Given the description of an element on the screen output the (x, y) to click on. 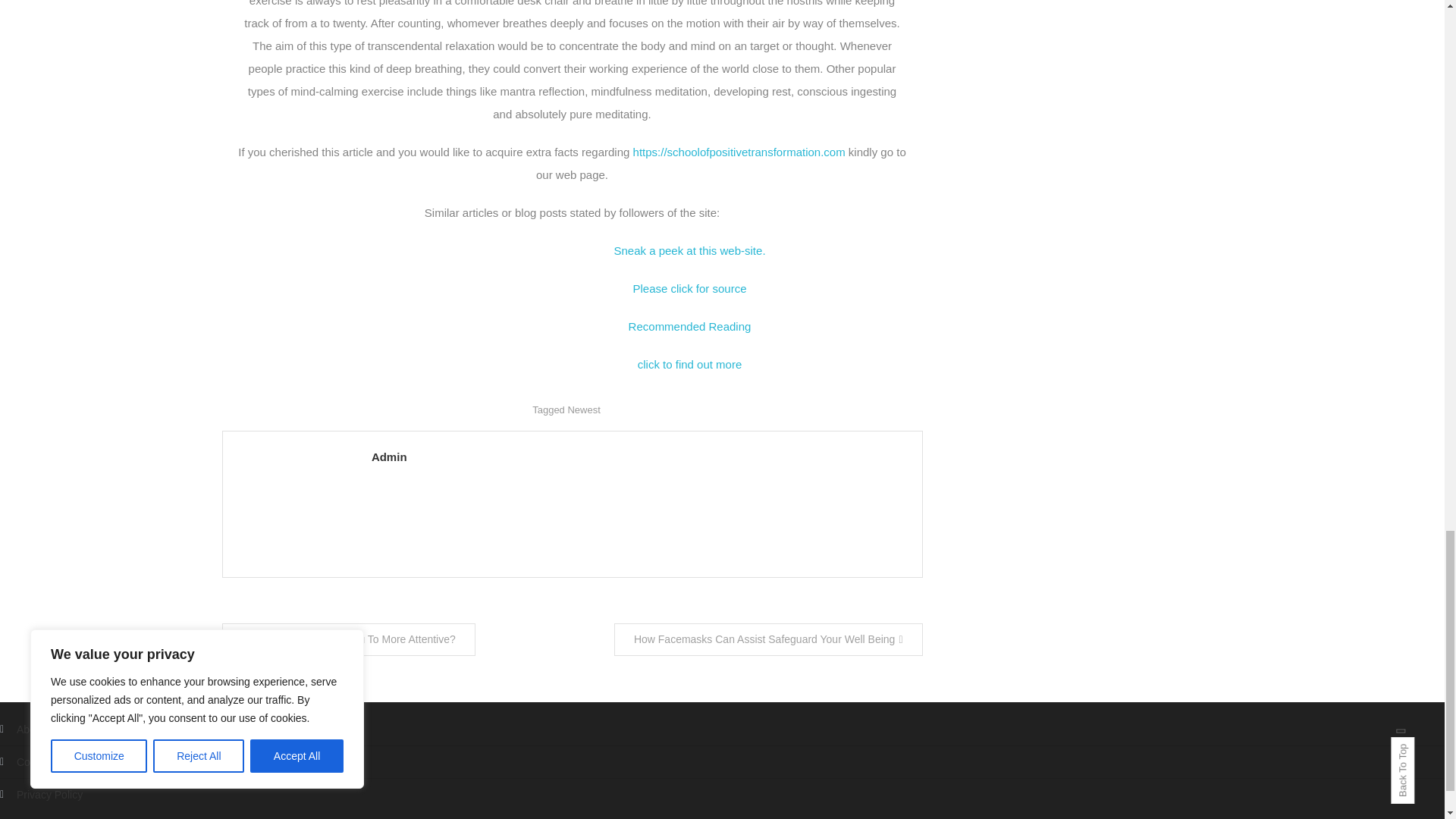
Recommended Reading (689, 326)
click to find out more (689, 364)
Newest (583, 409)
Sneak a peek at this web-site. (688, 250)
Does Reading Allow You To More Attentive? (347, 639)
How Facemasks Can Assist Safeguard Your Well Being (768, 639)
Please click for source (688, 287)
Admin (639, 456)
